Given the description of an element on the screen output the (x, y) to click on. 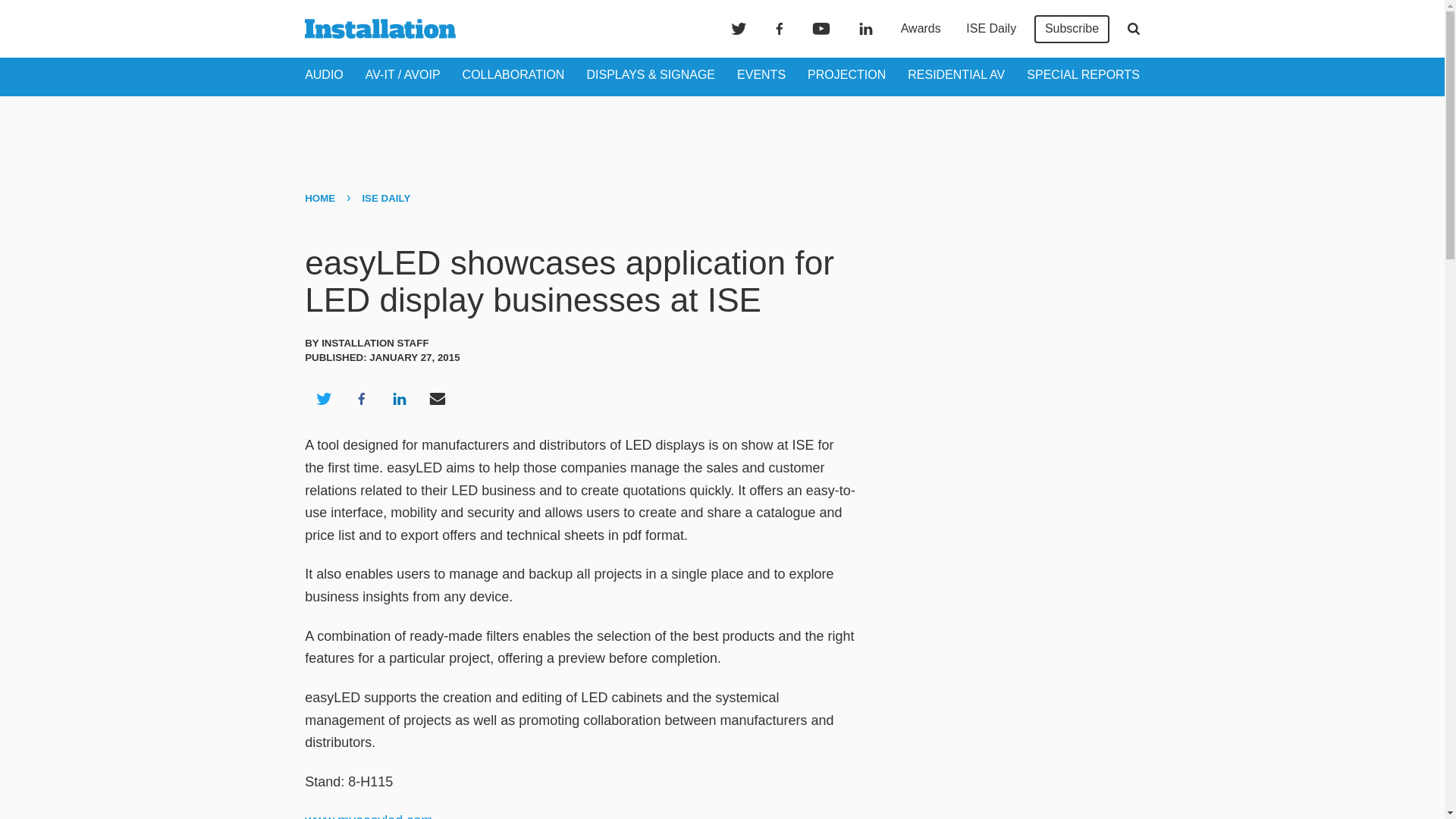
Share on LinkedIn (399, 398)
AUDIO (323, 74)
Share on Facebook (361, 398)
ISE Daily (990, 29)
Share via Email (438, 398)
Installation Staff's Author Profile (374, 342)
COLLABORATION (513, 74)
Awards (921, 29)
Share on Twitter (323, 398)
Subscribe (1071, 29)
